Given the description of an element on the screen output the (x, y) to click on. 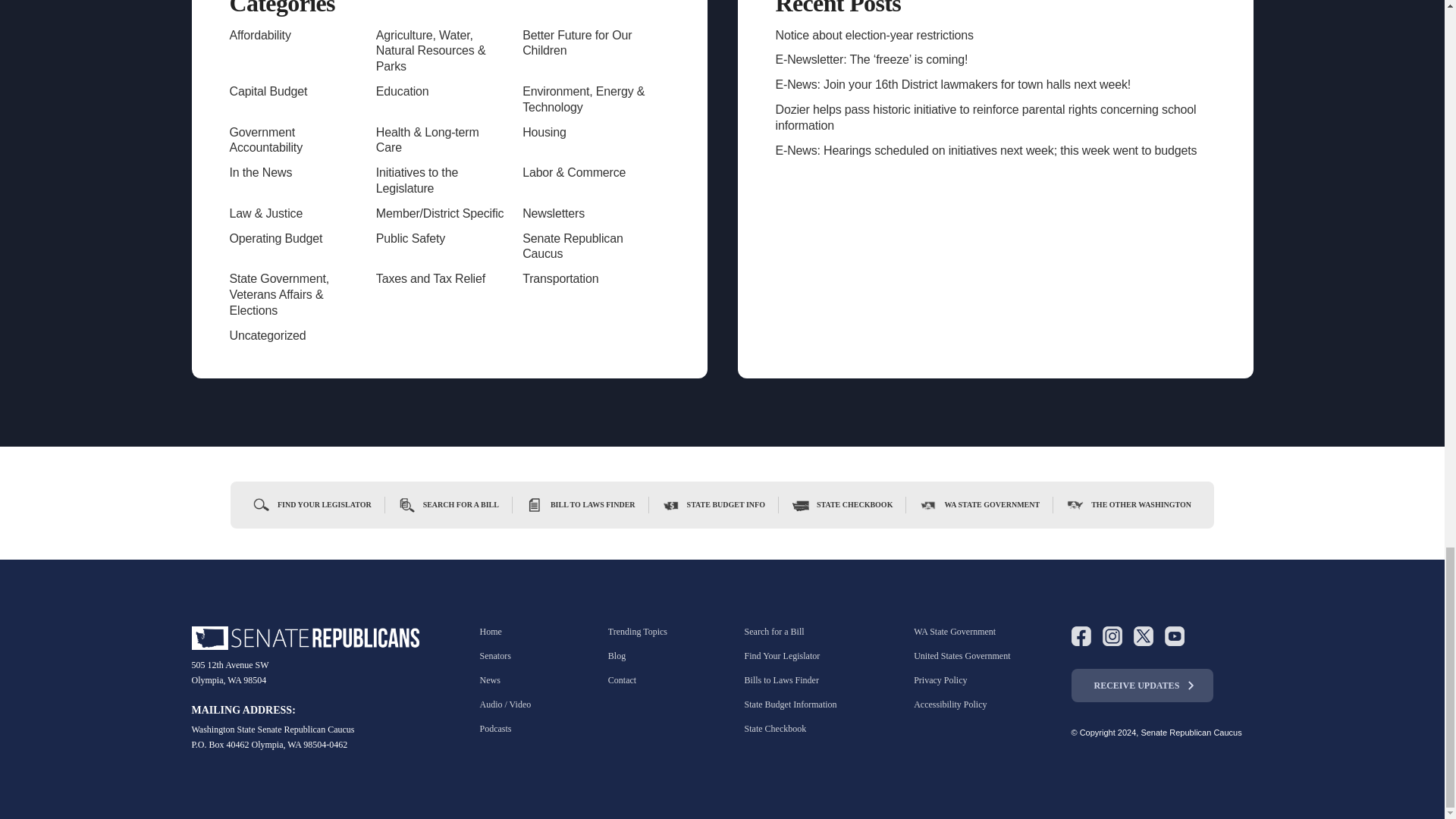
Youtube (1174, 636)
X (1142, 636)
Senate Republican Caucus (304, 638)
Instagram (1112, 636)
Facebook (1080, 636)
